Given the description of an element on the screen output the (x, y) to click on. 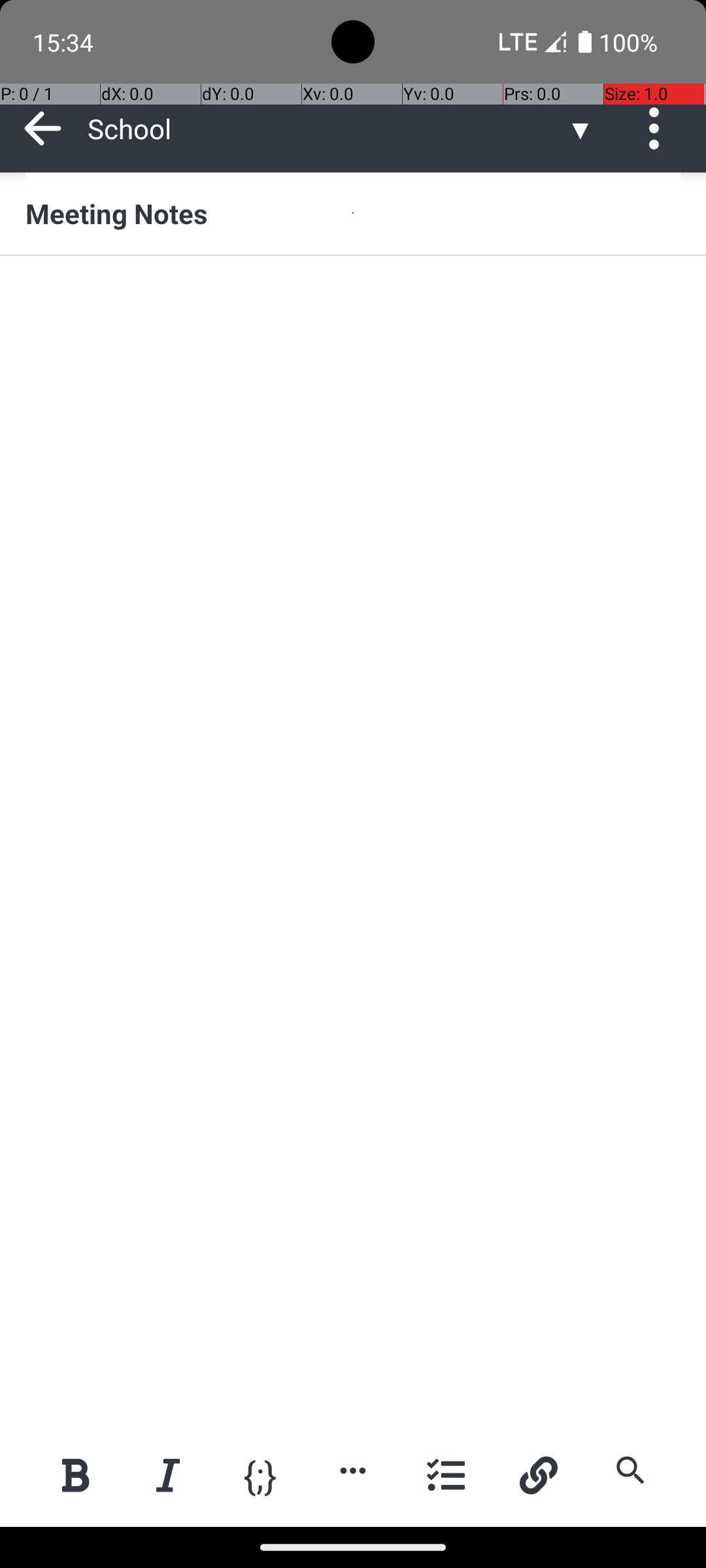
Meeting Notes Element type: android.widget.EditText (352, 213)

 Element type: android.widget.EditText (354, 298)
